Given the description of an element on the screen output the (x, y) to click on. 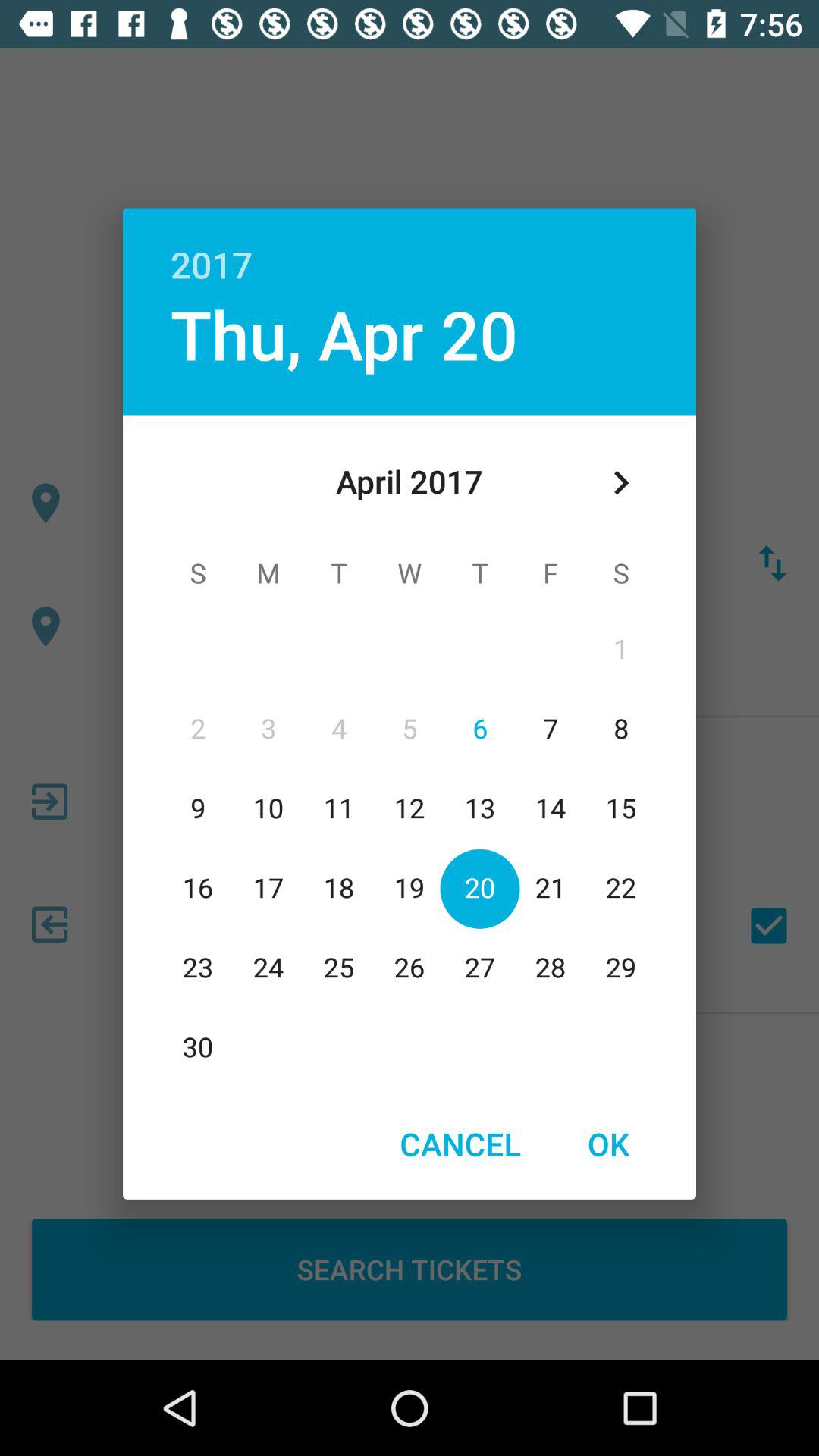
press app below the 2017 item (344, 333)
